Given the description of an element on the screen output the (x, y) to click on. 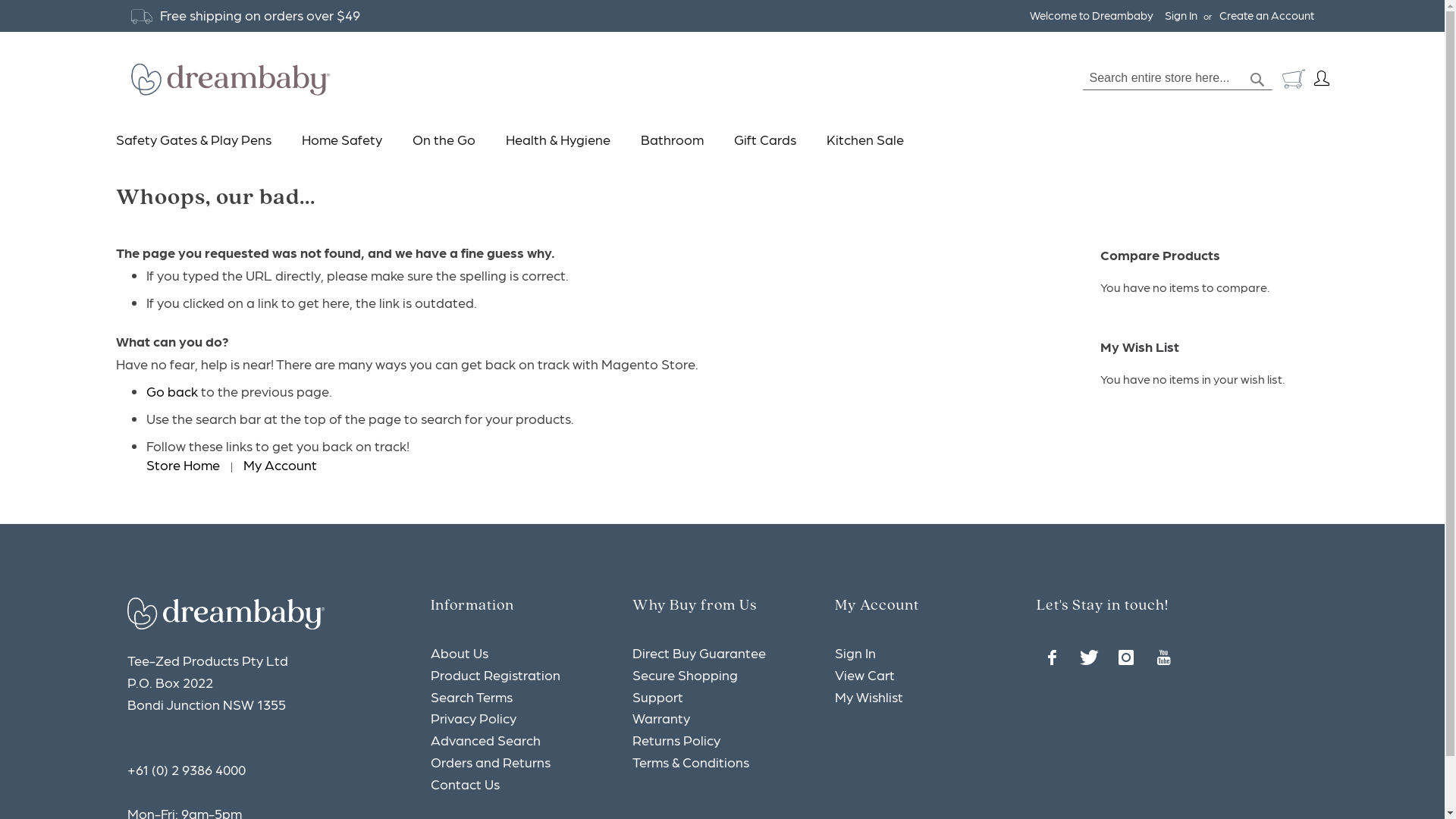
My Account Element type: text (1316, 78)
Search Terms Element type: text (471, 696)
Secure Shopping Element type: text (684, 674)
Direct Buy Guarantee Element type: text (698, 652)
Terms & Conditions Element type: text (690, 761)
My Cart Element type: text (1292, 78)
My Account Element type: text (279, 464)
Bathroom Element type: text (671, 139)
Returns Policy Element type: text (676, 739)
Sign In Element type: text (1180, 15)
Contact Us Element type: text (464, 783)
Kitchen Sale Element type: text (865, 139)
My Wishlist Element type: text (868, 696)
On the Go Element type: text (443, 139)
Store Home Element type: text (182, 464)
Safety Gates & Play Pens Element type: text (200, 139)
Support Element type: text (657, 696)
Home Safety Element type: text (341, 139)
Product Registration Element type: text (495, 674)
Privacy Policy Element type: text (473, 717)
About Us Element type: text (459, 652)
Advanced Search Element type: text (485, 739)
View Cart Element type: text (864, 674)
Health & Hygiene Element type: text (556, 139)
Search Element type: text (1256, 79)
Gift Cards Element type: text (764, 139)
Orders and Returns Element type: text (490, 761)
Warranty Element type: text (661, 717)
Sign In Element type: text (854, 652)
Go back Element type: text (171, 390)
Create an Account Element type: text (1266, 15)
